Given the description of an element on the screen output the (x, y) to click on. 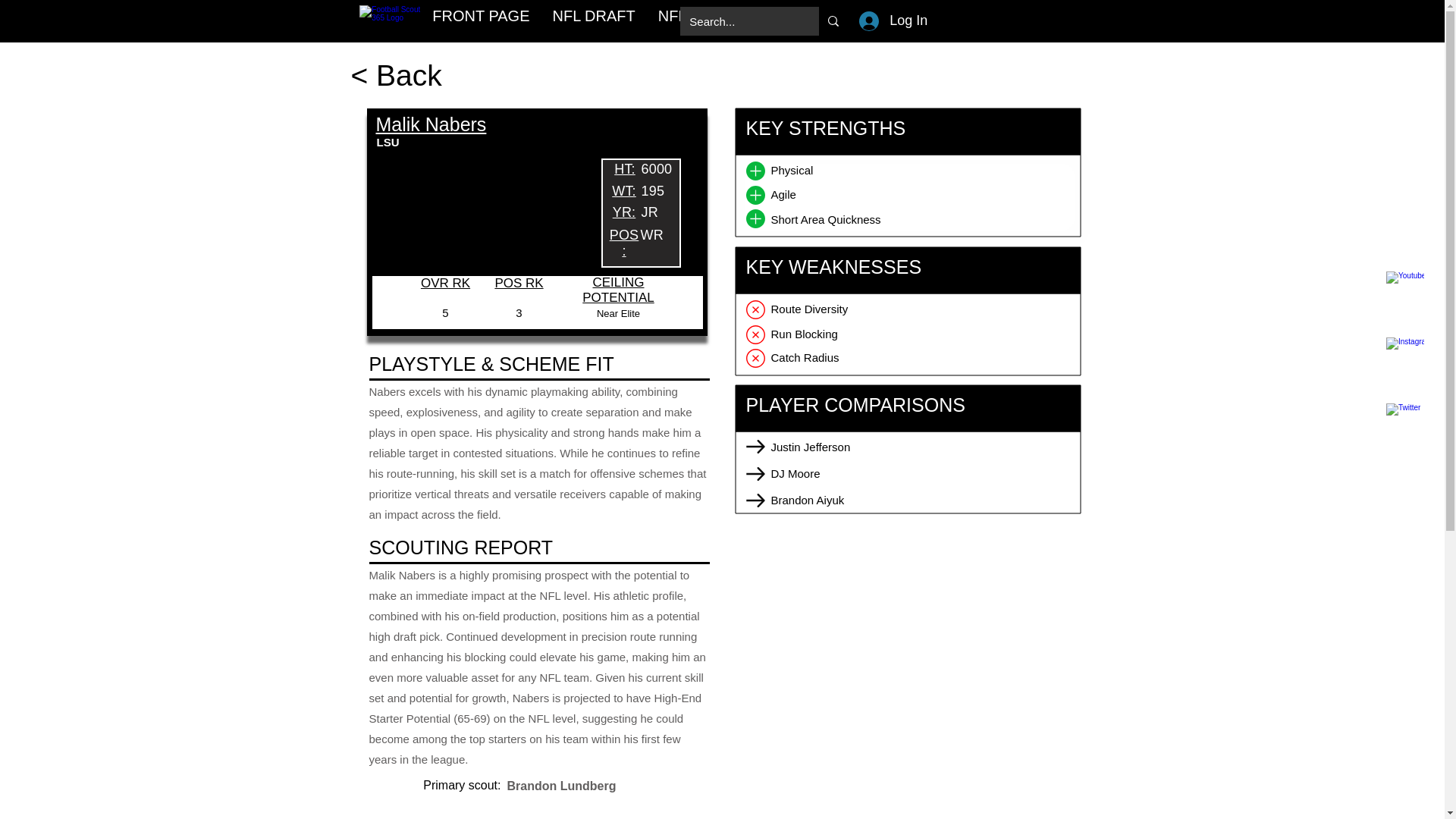
Log In (878, 21)
Welcome to Football Scout 365 (389, 20)
FRONT PAGE (480, 20)
